Given the description of an element on the screen output the (x, y) to click on. 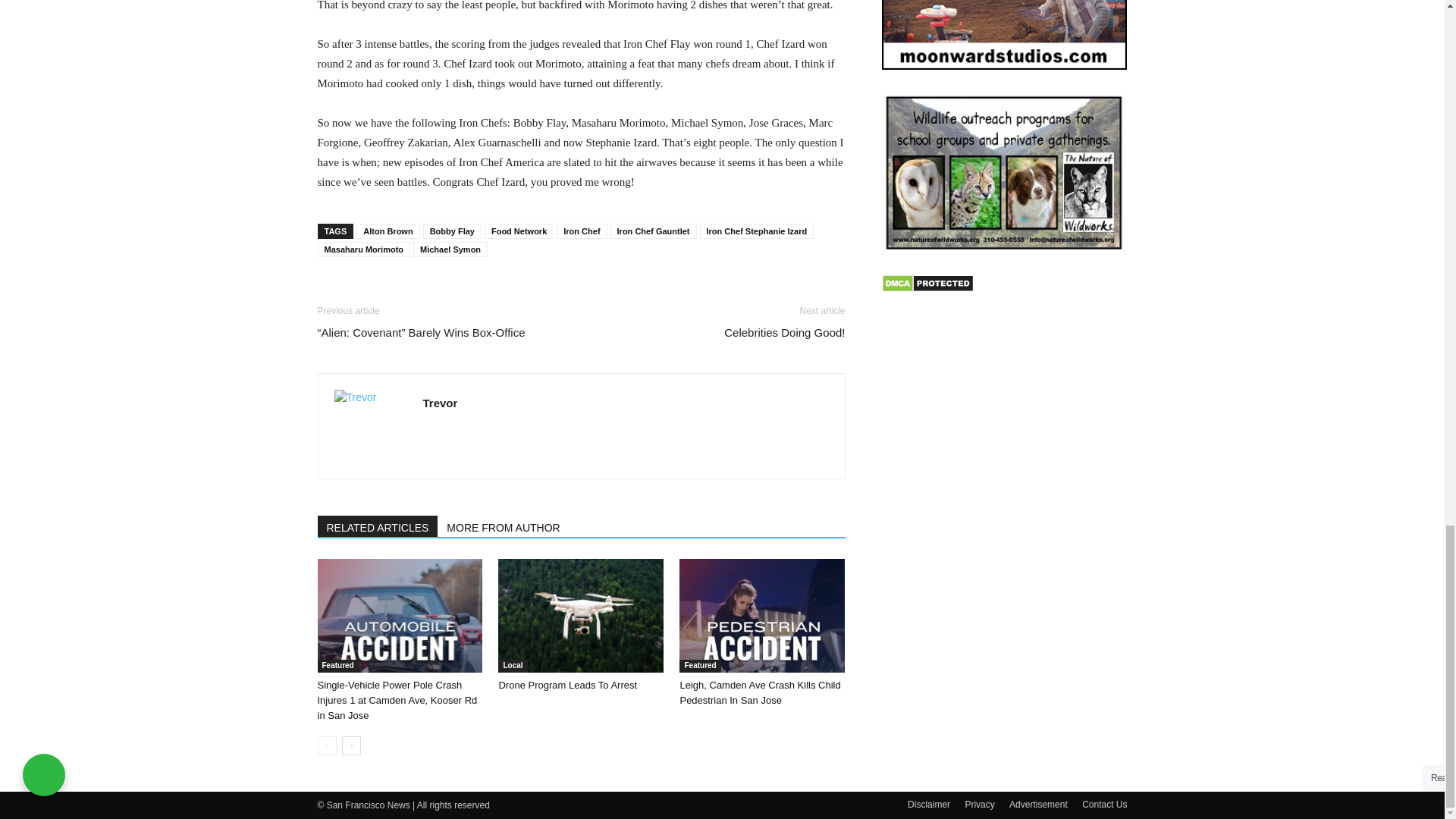
DMCA.com Protection Status (926, 288)
Leigh, Camden Ave Crash Kills Child Pedestrian In San Jose (759, 692)
Leigh, Camden Ave Crash Kills Child Pedestrian In San Jose (761, 615)
Drone Program Leads To Arrest (580, 615)
Drone Program Leads To Arrest (567, 685)
bottomFacebookLike (430, 290)
